Given the description of an element on the screen output the (x, y) to click on. 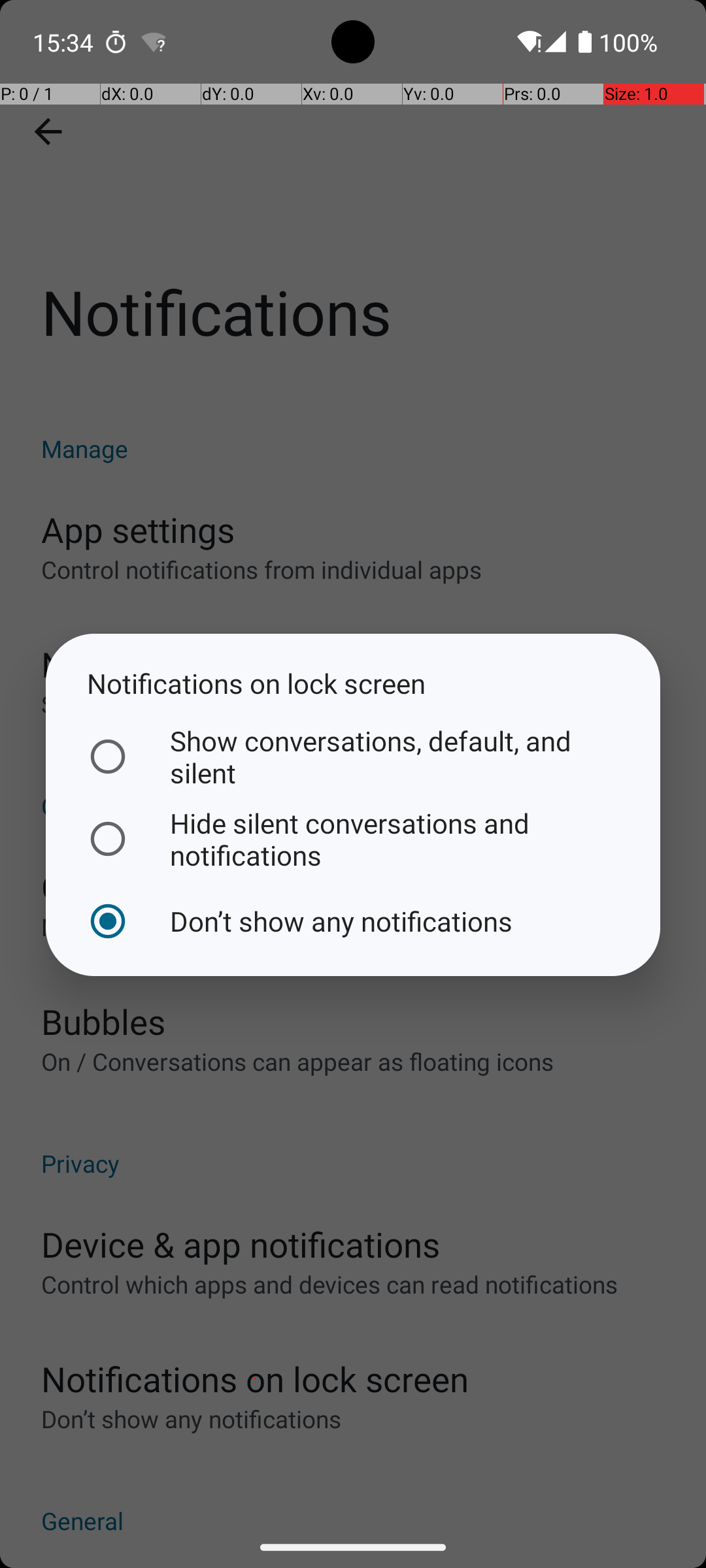
Show conversations, default, and silent Element type: android.widget.CheckedTextView (349, 756)
